Given the description of an element on the screen output the (x, y) to click on. 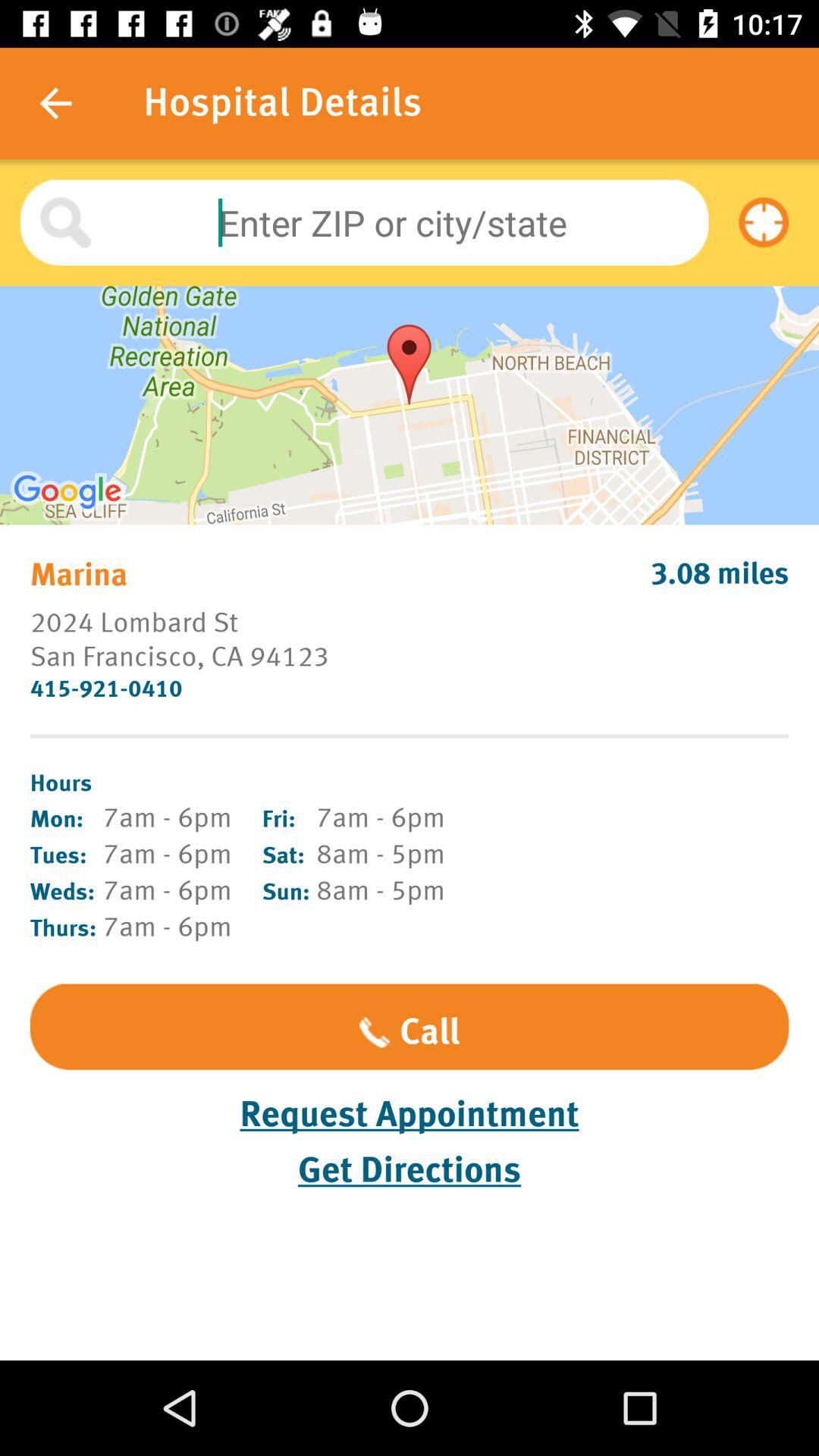
enter zip code (364, 222)
